Given the description of an element on the screen output the (x, y) to click on. 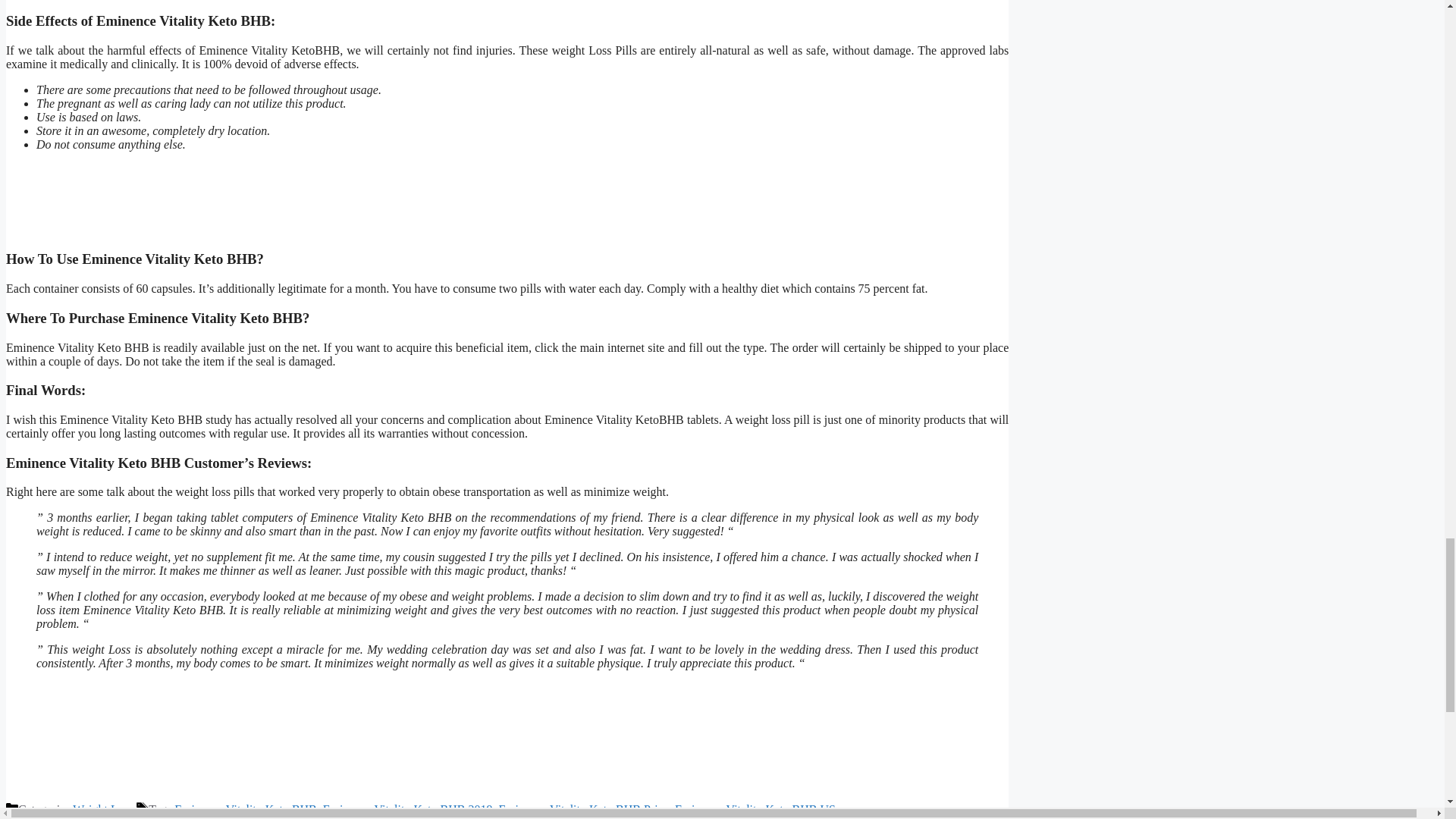
Weight Loss (102, 809)
Eminence Vitality Keto BHB Price (582, 809)
Eminence Vitality Keto BHB US (755, 809)
Eminence Vitality Keto BHB (245, 809)
Eminence Vitality Keto BHB 2019 (408, 809)
